Given the description of an element on the screen output the (x, y) to click on. 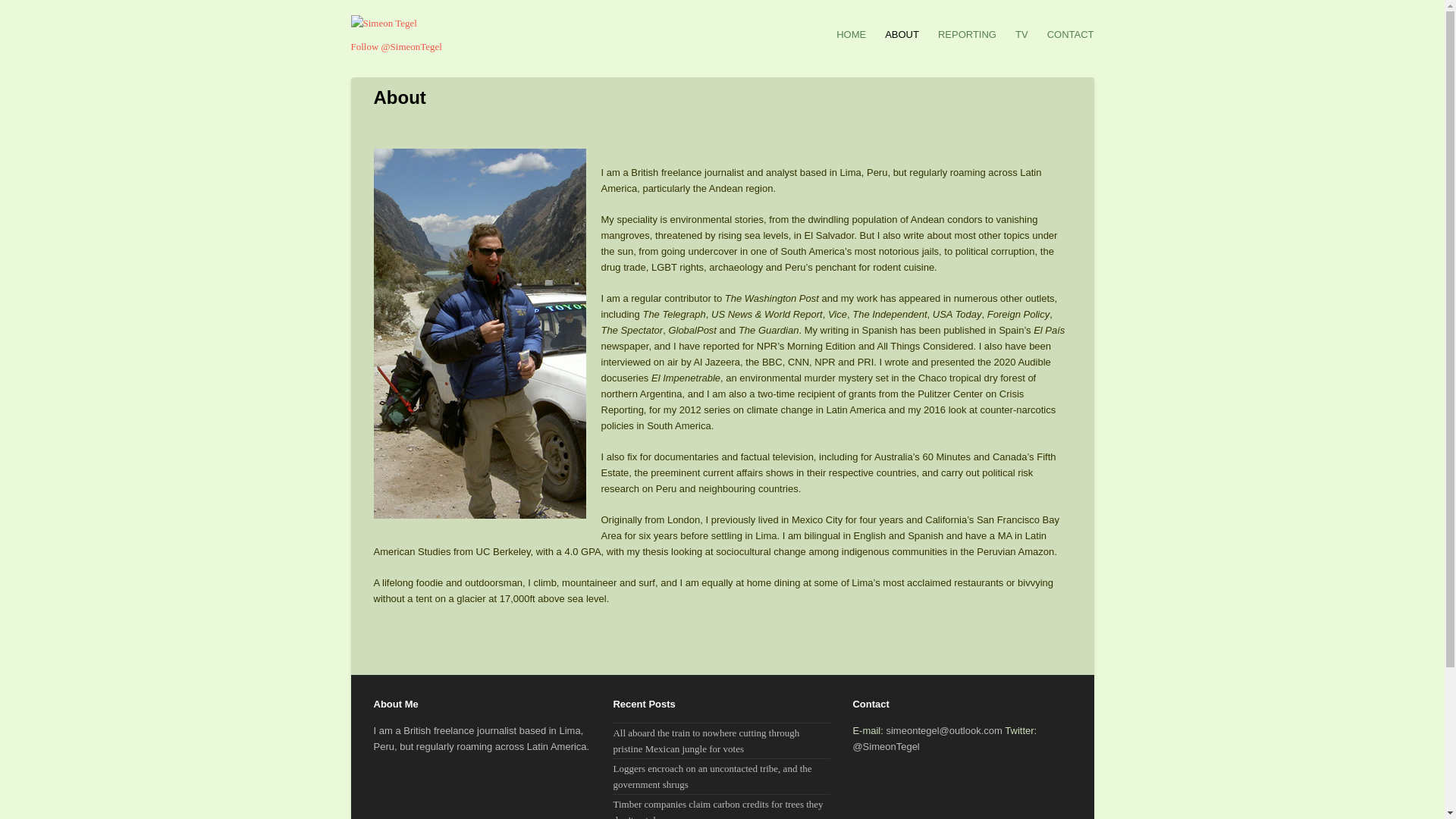
Simeon Tegel (721, 23)
CONTACT (1070, 34)
HOME (850, 34)
REPORTING (966, 34)
ABOUT (901, 34)
